Given the description of an element on the screen output the (x, y) to click on. 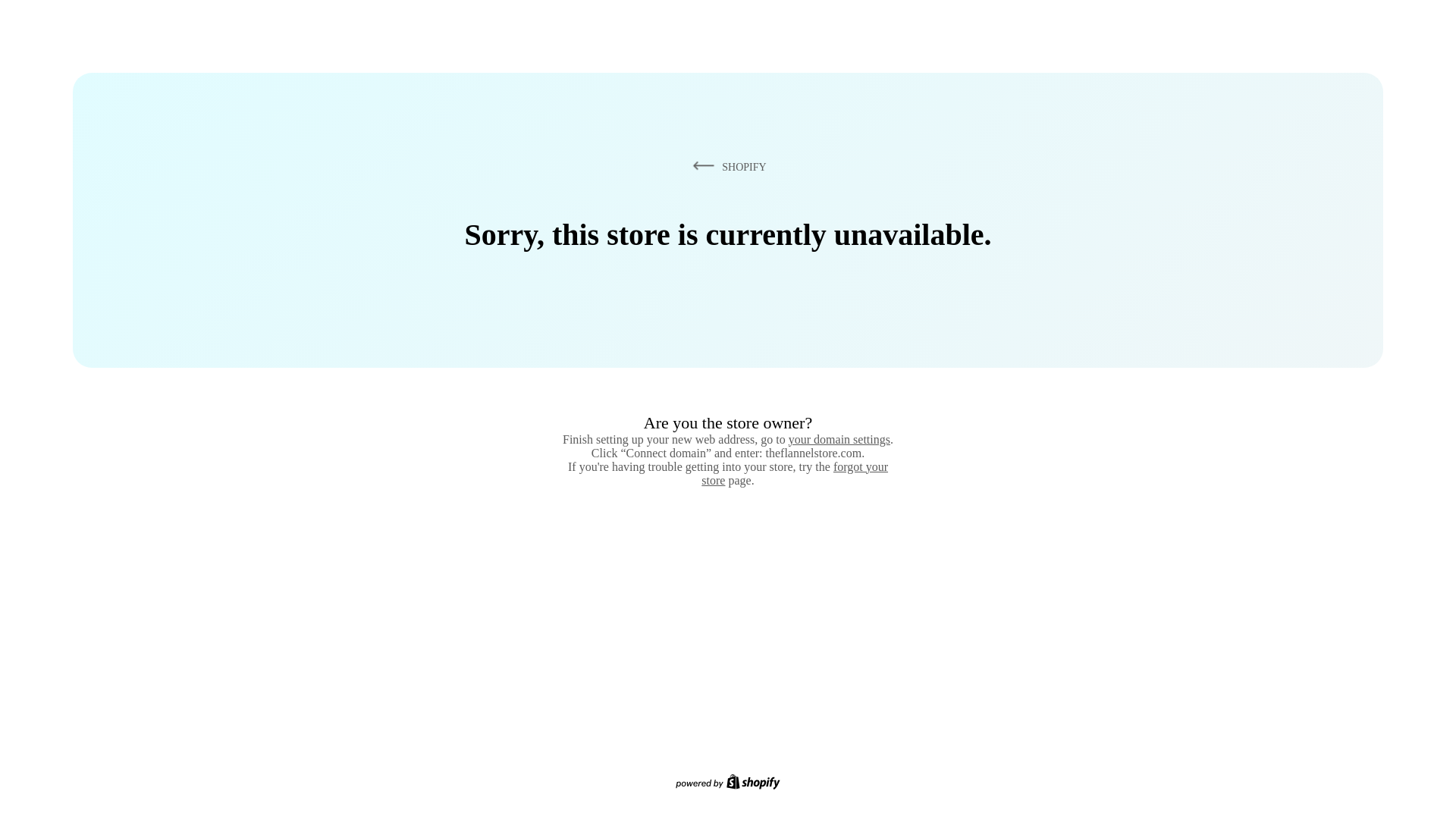
forgot your store (794, 473)
your domain settings (839, 439)
SHOPIFY (726, 166)
